Given the description of an element on the screen output the (x, y) to click on. 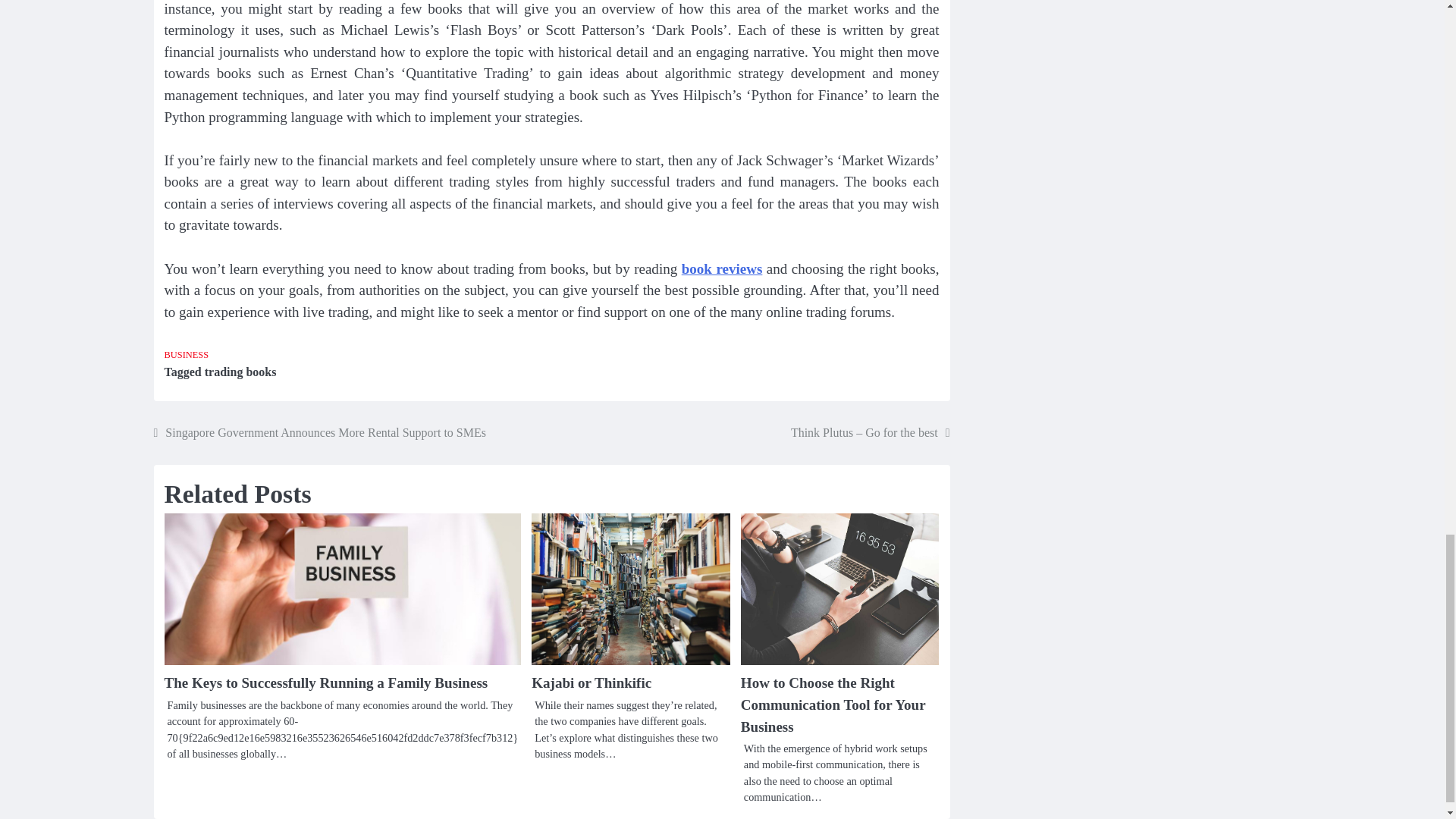
How to Choose the Right Communication Tool for Your Business (832, 703)
book reviews (721, 268)
BUSINESS (185, 354)
trading books (240, 371)
Singapore Government Announces More Rental Support to SMEs (318, 433)
The Keys to Successfully Running a Family Business (325, 682)
Kajabi or Thinkific (590, 682)
